Given the description of an element on the screen output the (x, y) to click on. 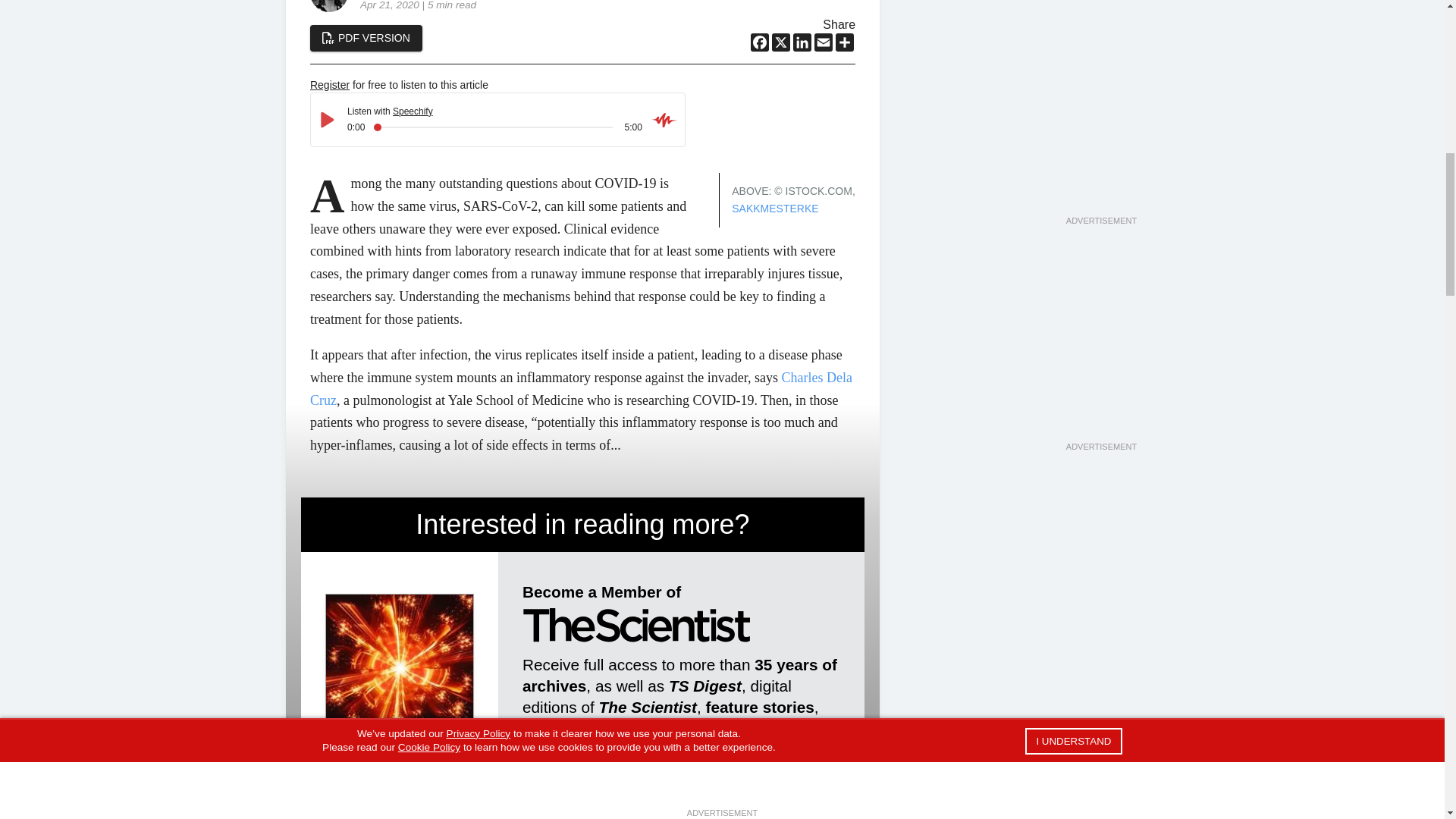
3rd party ad content (1100, 344)
Shawna Williams (347, 799)
3rd party ad content (1100, 66)
an explosion of red light radiating out from a core (399, 667)
Shawna Williams (328, 6)
